Given the description of an element on the screen output the (x, y) to click on. 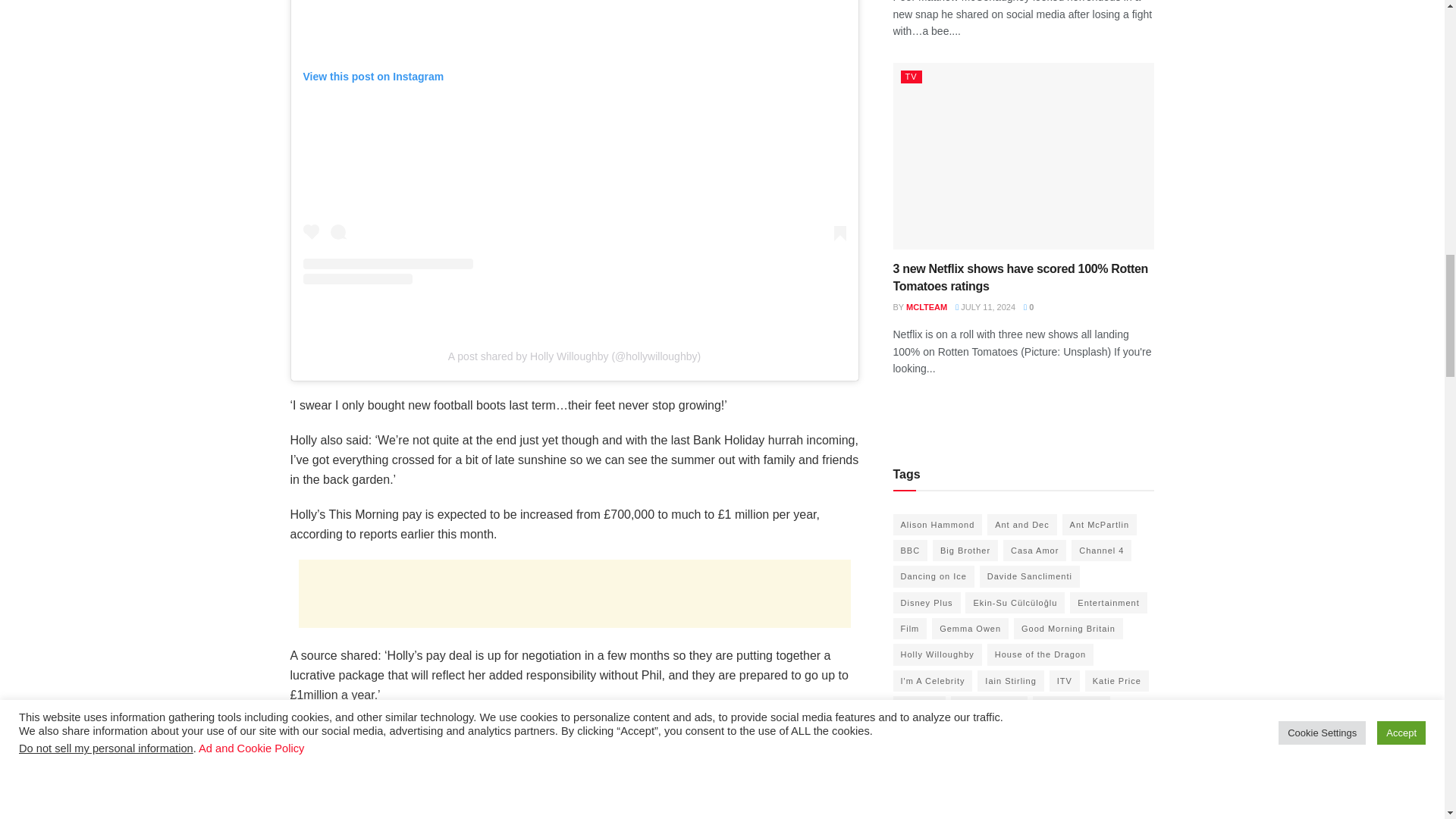
Phillip Schofield (366, 784)
Advertisement (574, 593)
